Given the description of an element on the screen output the (x, y) to click on. 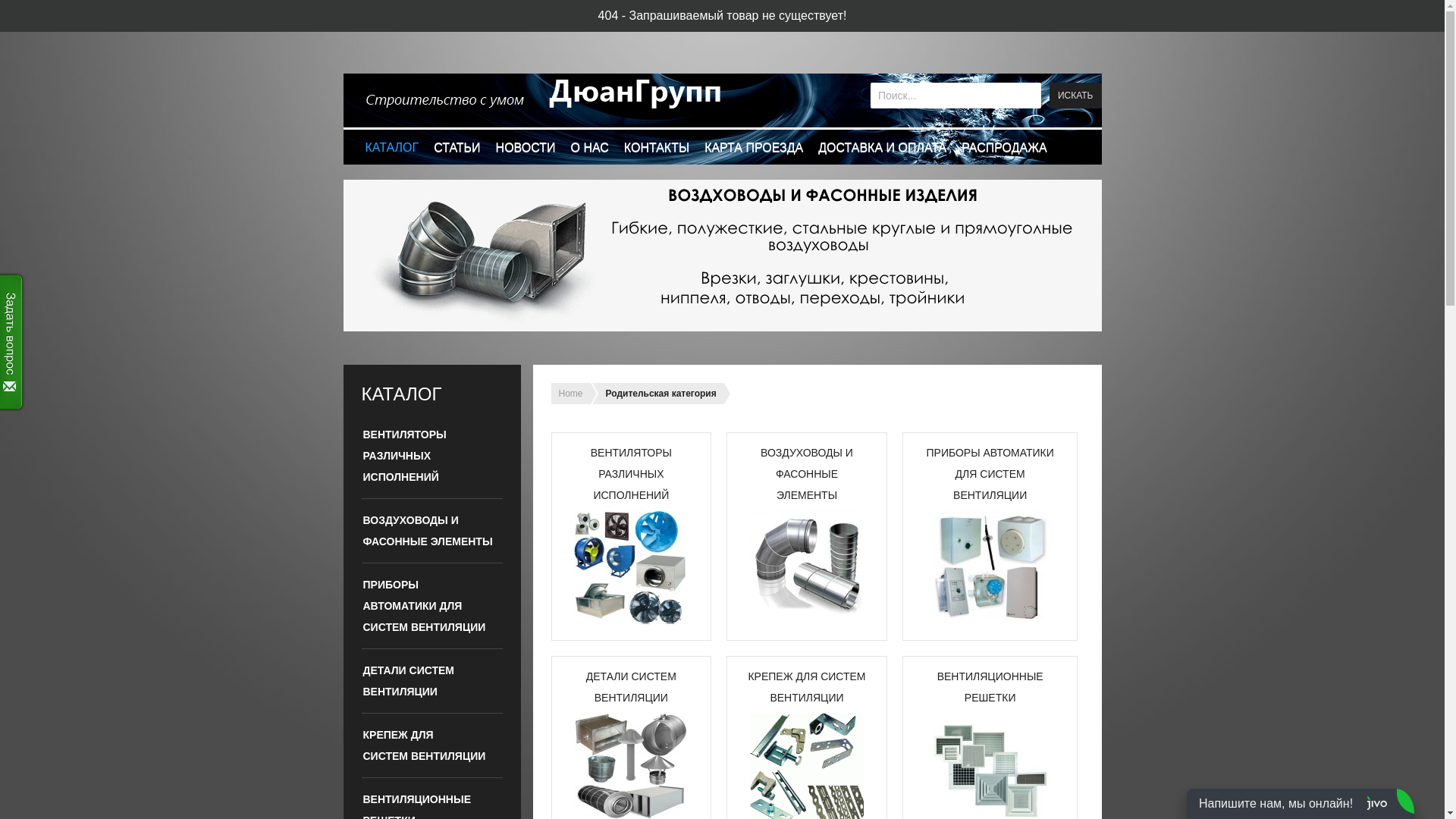
Home Element type: text (570, 393)
